Given the description of an element on the screen output the (x, y) to click on. 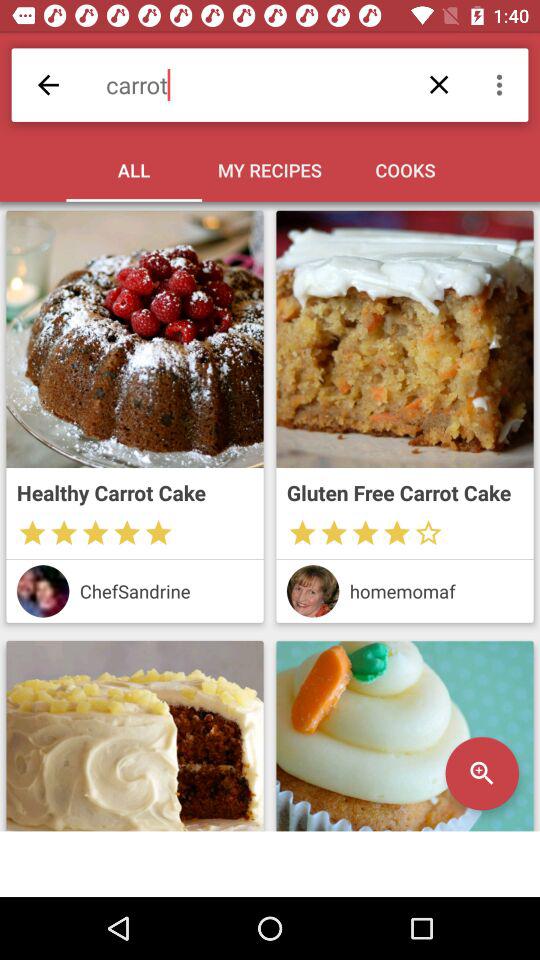
click the icon to the right of the carrot item (501, 84)
